Given the description of an element on the screen output the (x, y) to click on. 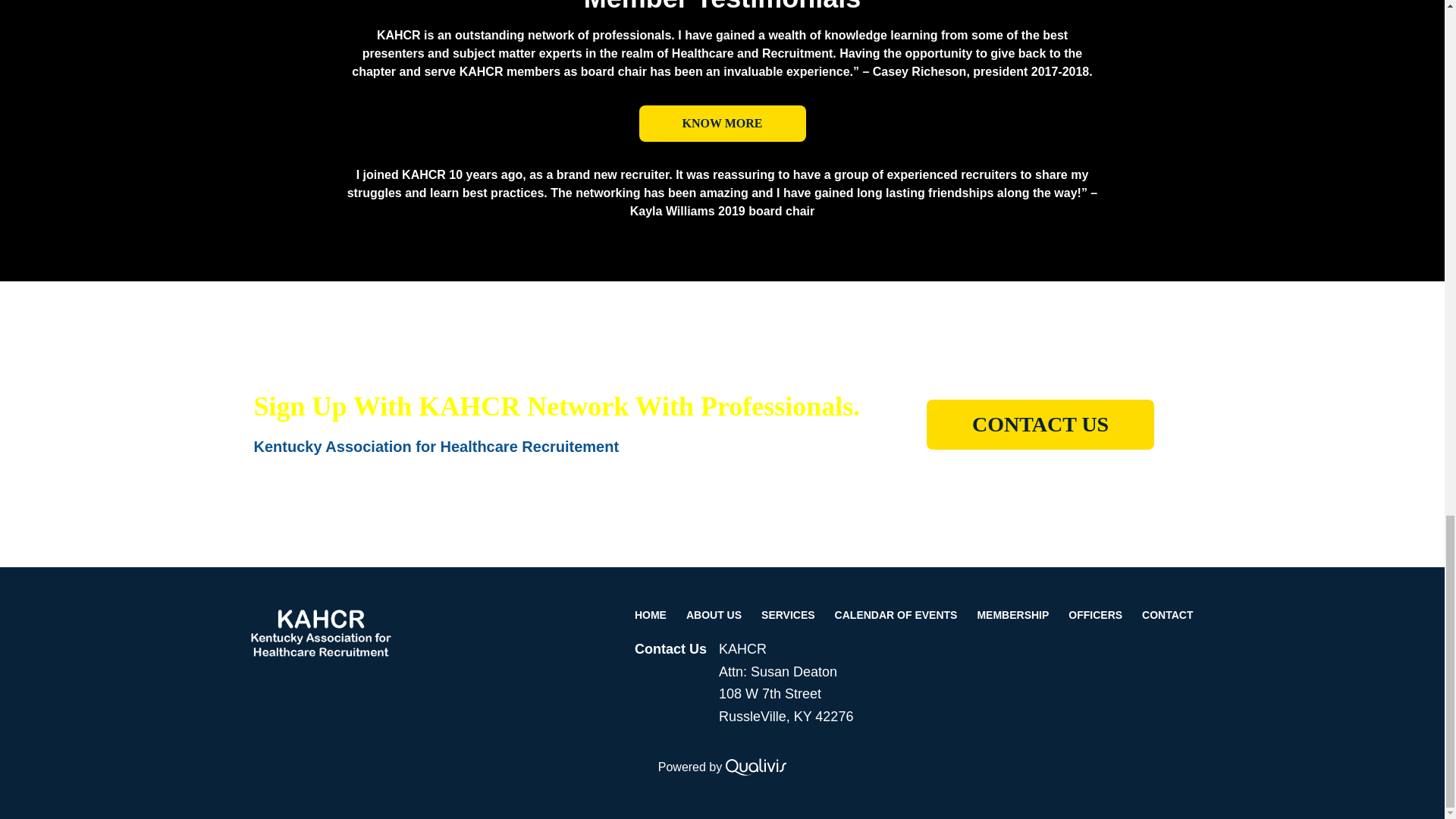
SERVICES (788, 615)
KNOW MORE (722, 123)
ABOUT US (714, 615)
Linked In (319, 685)
CONTACT US (1040, 424)
MEMBERSHIP (1012, 615)
CALENDAR OF EVENTS (896, 615)
OFFICERS (1095, 615)
CONTACT (1167, 615)
HOME (655, 615)
